Given the description of an element on the screen output the (x, y) to click on. 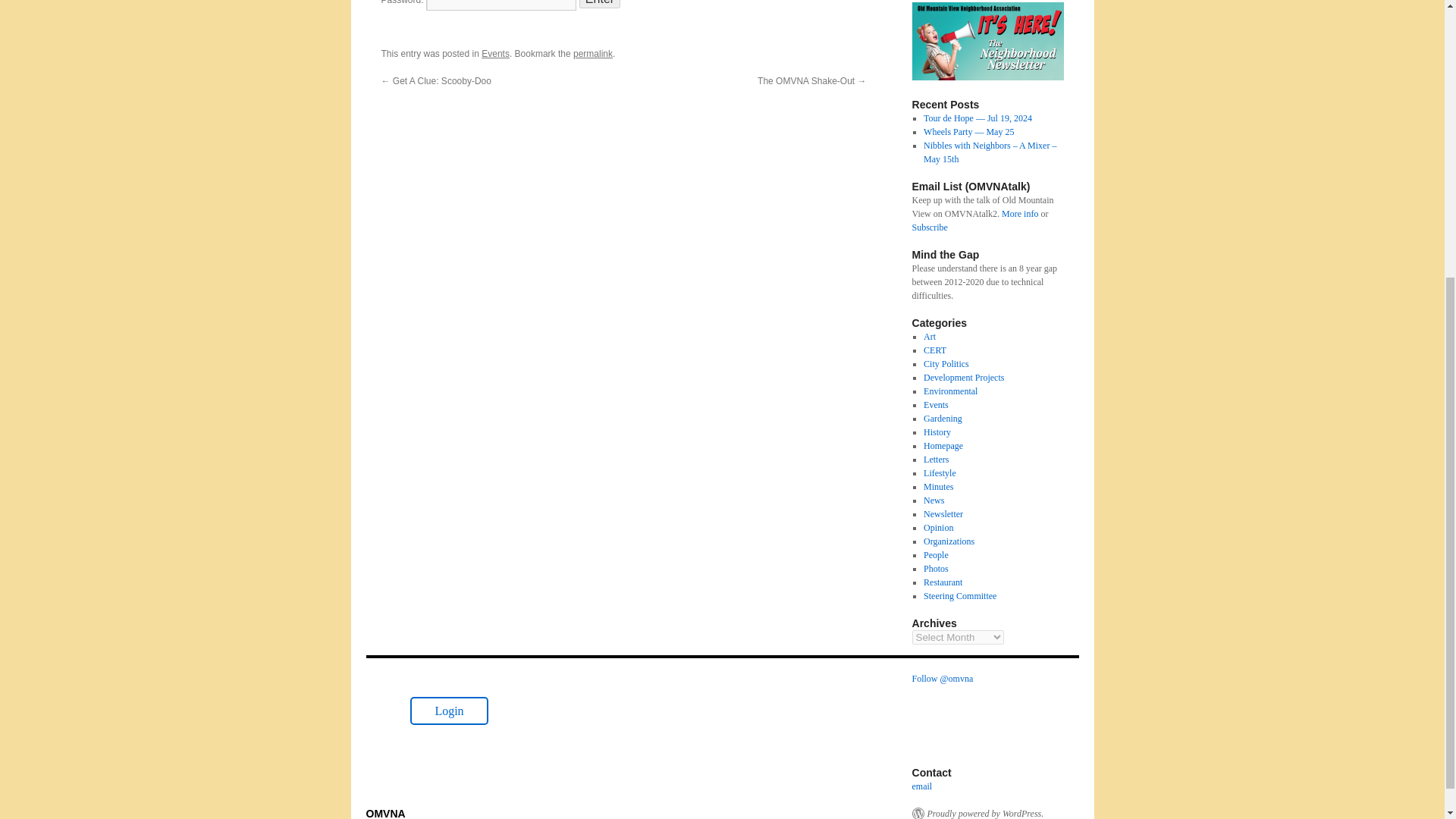
Enter (599, 4)
Permalink to Protected: Get A Clue: Sherlock (592, 53)
permalink (592, 53)
Events (495, 53)
Enter (599, 4)
